Given the description of an element on the screen output the (x, y) to click on. 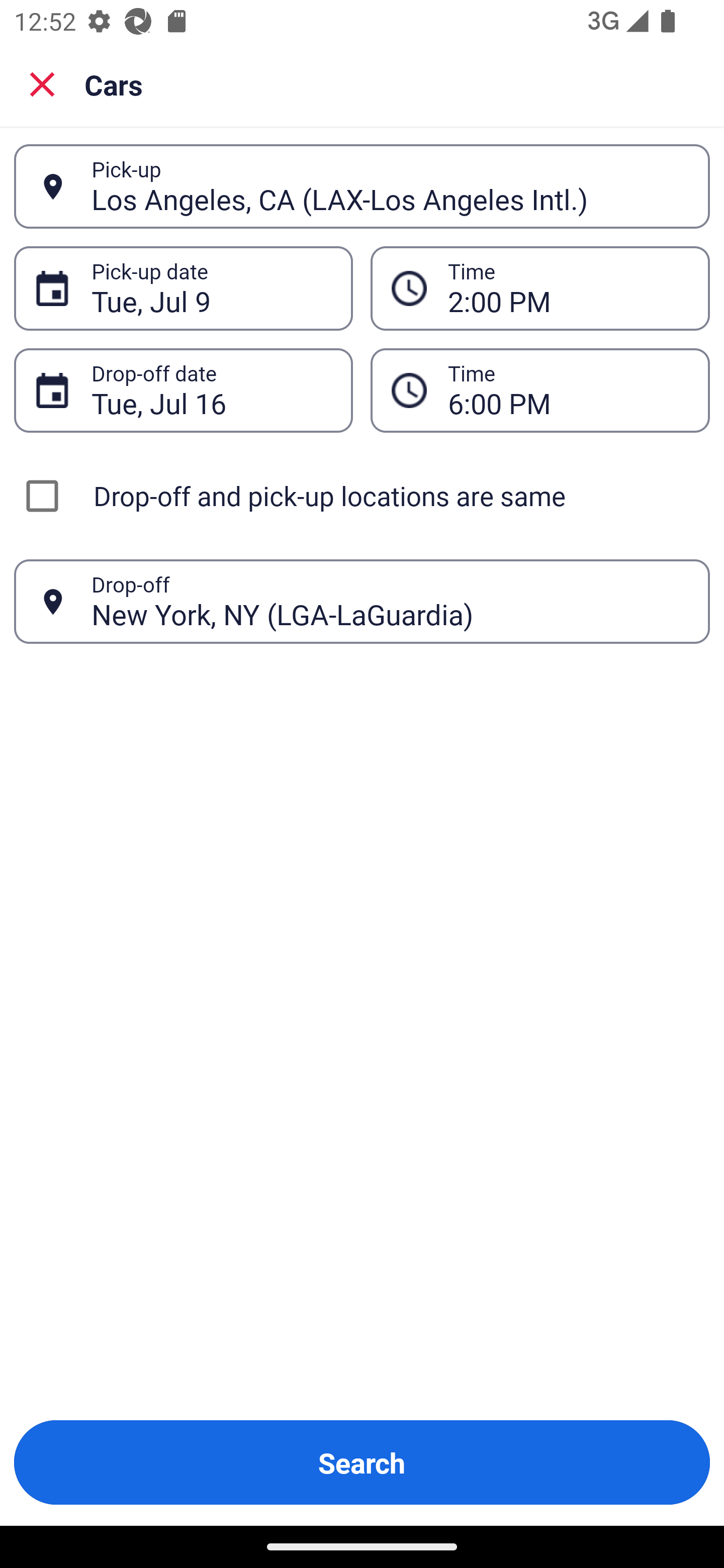
Close search screen (42, 84)
Los Angeles, CA (LAX-Los Angeles Intl.) (389, 186)
Tue, Jul 9 (211, 288)
2:00 PM (568, 288)
Tue, Jul 16 (211, 390)
6:00 PM (568, 390)
Drop-off and pick-up locations are same (361, 495)
New York, NY (LGA-LaGuardia) (389, 601)
Search Button Search (361, 1462)
